Given the description of an element on the screen output the (x, y) to click on. 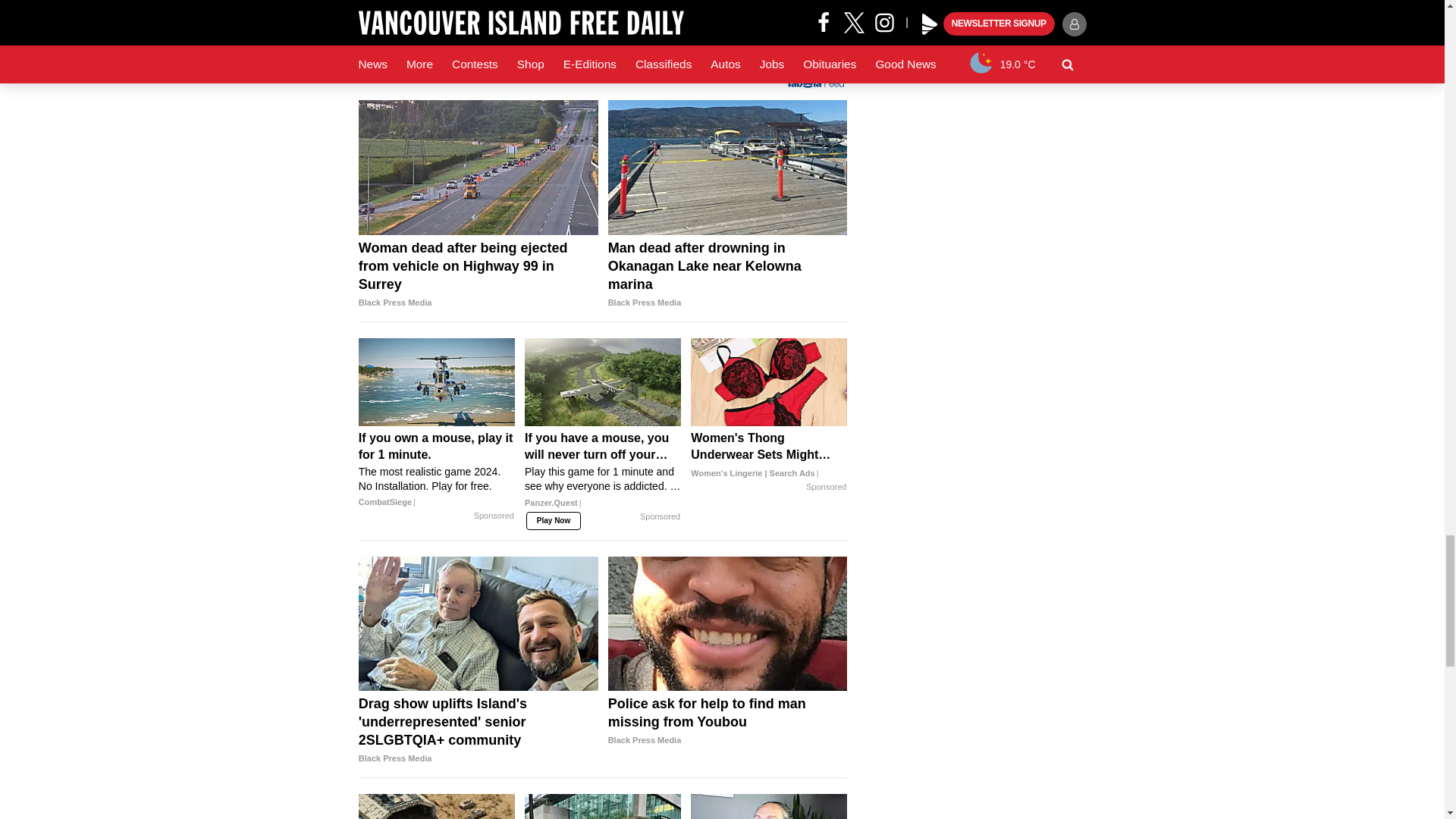
Show Comments (602, 32)
